Given the description of an element on the screen output the (x, y) to click on. 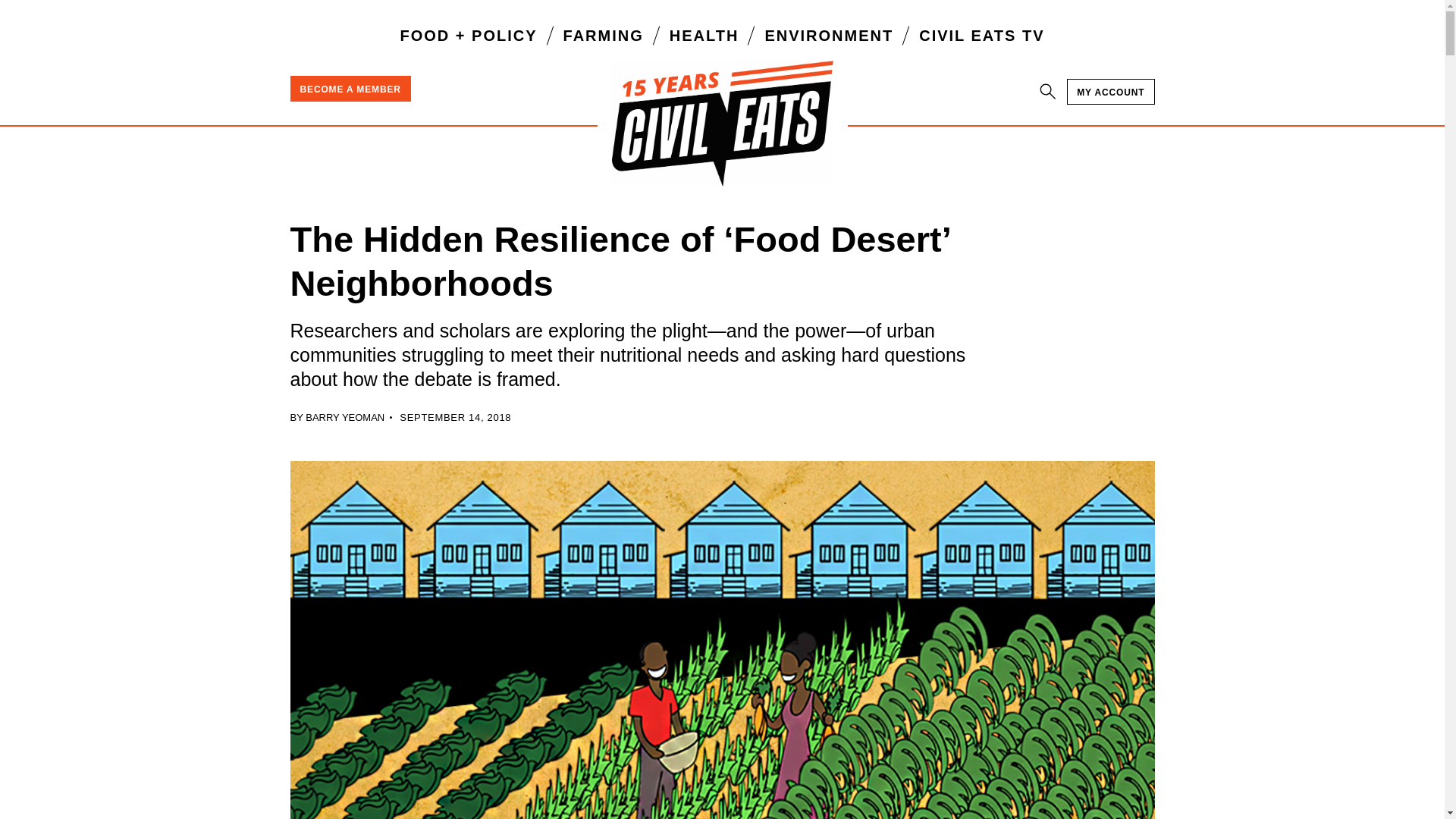
HEALTH (704, 35)
CIVIL EATS TV (980, 35)
Posts by Barry Yeoman (344, 417)
FARMING (603, 35)
BECOME A MEMBER (349, 88)
ENVIRONMENT (828, 35)
MY ACCOUNT (1110, 91)
